Given the description of an element on the screen output the (x, y) to click on. 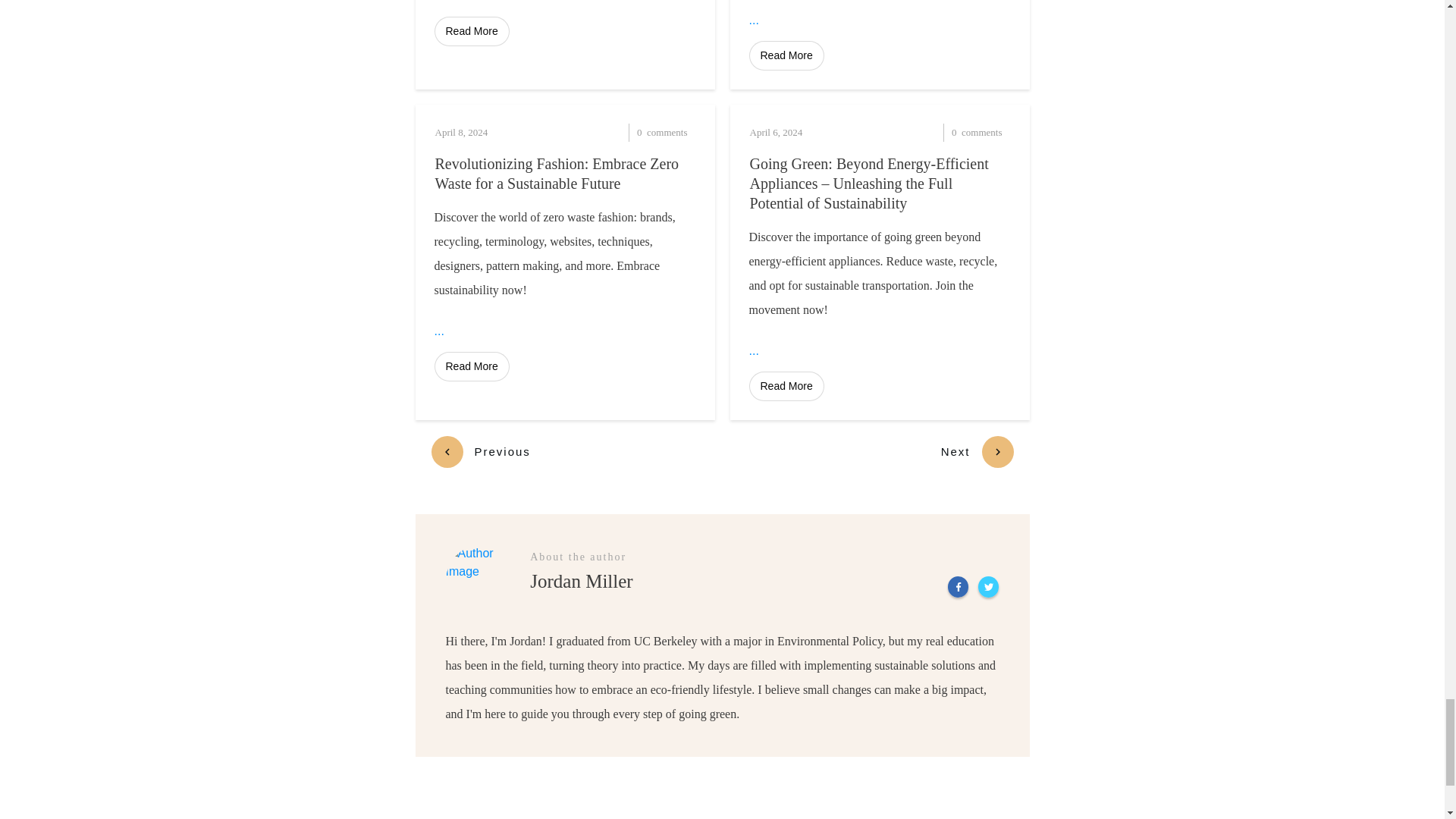
0  comments (632, 132)
Read More (786, 55)
... (753, 19)
Read More (470, 30)
